Given the description of an element on the screen output the (x, y) to click on. 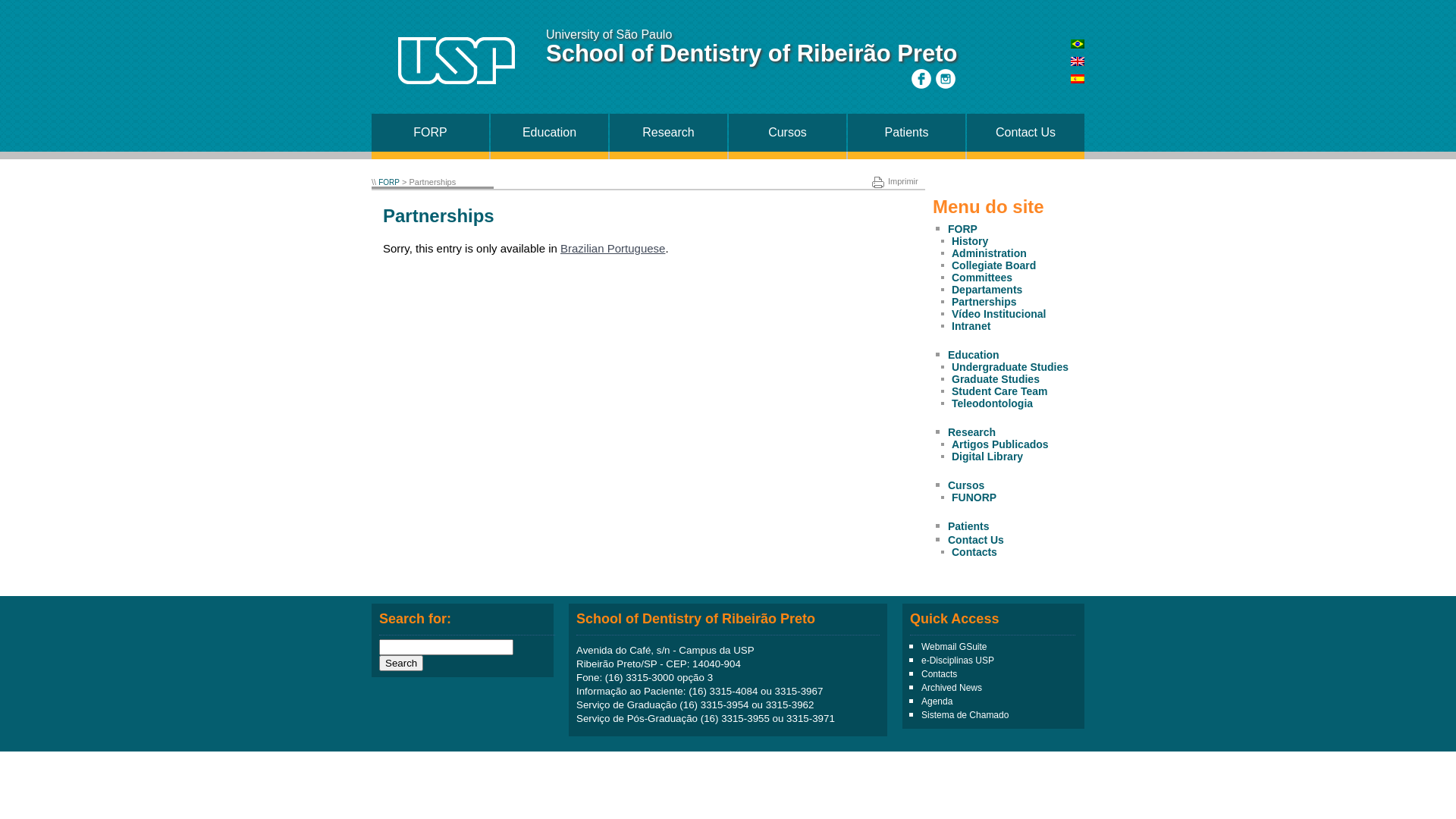
English (en) Element type: hover (1077, 61)
FUNORP Element type: text (973, 497)
Teleodontologia Element type: text (991, 403)
Contacts Element type: text (939, 673)
e-Disciplinas USP Element type: text (957, 660)
Webmail GSuite Element type: text (953, 646)
Sistema de Chamado Element type: text (964, 714)
Artigos Publicados Element type: text (999, 444)
Intranet Element type: text (970, 326)
Contact Us Element type: text (975, 539)
History Element type: text (969, 241)
Education Element type: text (549, 132)
Agenda Element type: text (936, 701)
Departaments Element type: text (986, 289)
Student Care Team Element type: text (999, 391)
Administration Element type: text (988, 253)
Undergraduate Studies Element type: text (1009, 366)
Collegiate Board Element type: text (993, 265)
Education Element type: text (973, 354)
Patients Element type: text (967, 526)
Patients Element type: text (906, 132)
Committees Element type: text (981, 277)
Digital Library Element type: text (986, 456)
FORP Element type: text (388, 182)
Brazilian Portuguese Element type: text (612, 247)
Contacts Element type: text (974, 552)
Cursos Element type: text (787, 132)
FORP Element type: text (430, 132)
Search Element type: text (401, 663)
Archived News Element type: text (951, 687)
Research Element type: text (668, 132)
FORP Element type: text (962, 228)
Research Element type: text (971, 432)
Partnerships Element type: text (983, 301)
Cursos Element type: text (965, 485)
Imprimir Element type: text (895, 180)
Contact Us Element type: text (1025, 132)
Graduate Studies Element type: text (995, 379)
